Given the description of an element on the screen output the (x, y) to click on. 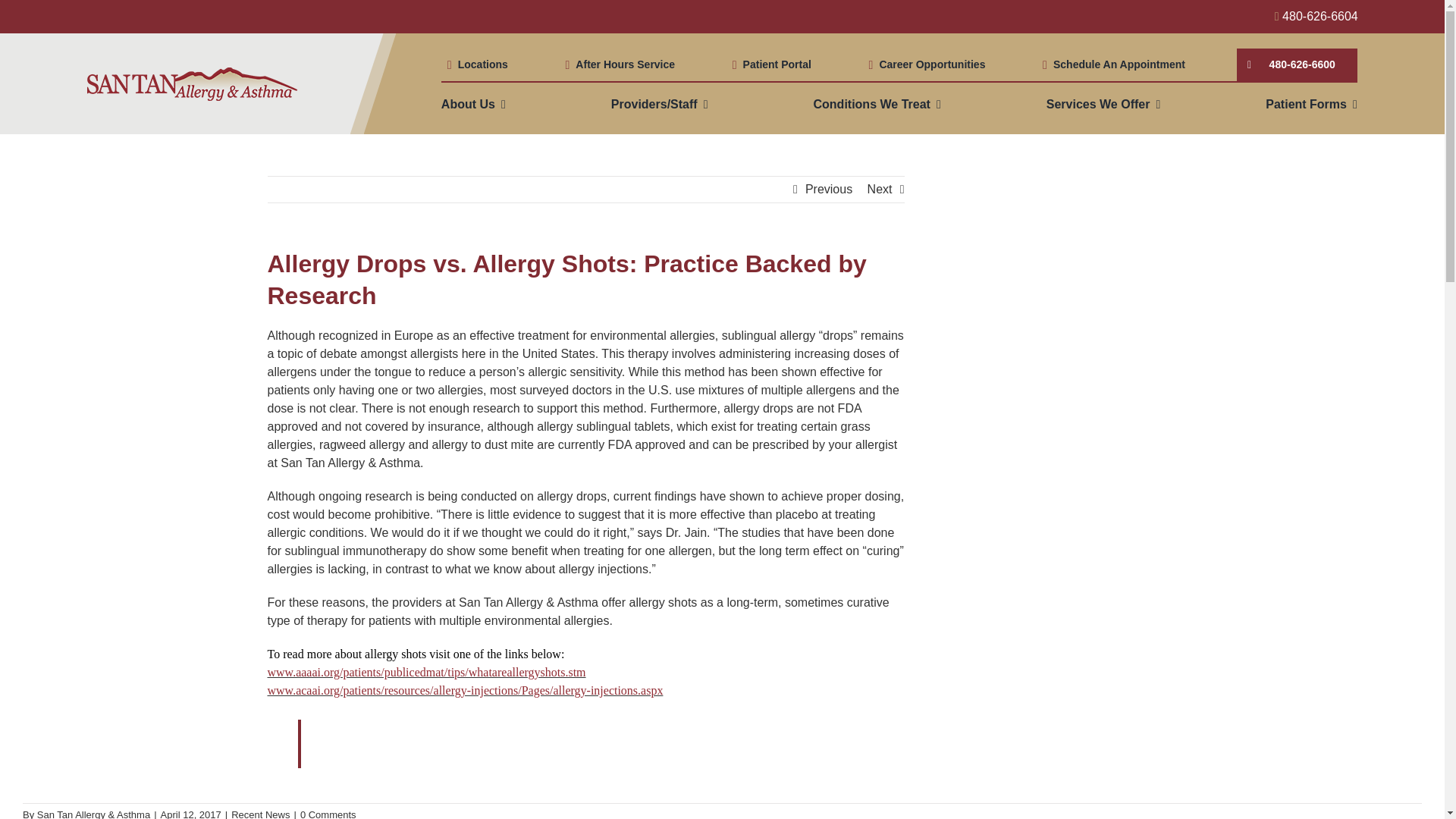
Schedule An Appointment (1110, 64)
Career Opportunities (924, 64)
After Hours Service (617, 64)
Patient Portal (768, 64)
About Us (473, 104)
Services We Offer (1103, 104)
Locations (474, 64)
480-626-6600 (1296, 64)
Conditions We Treat (876, 104)
480-626-6604 (1316, 15)
